Given the description of an element on the screen output the (x, y) to click on. 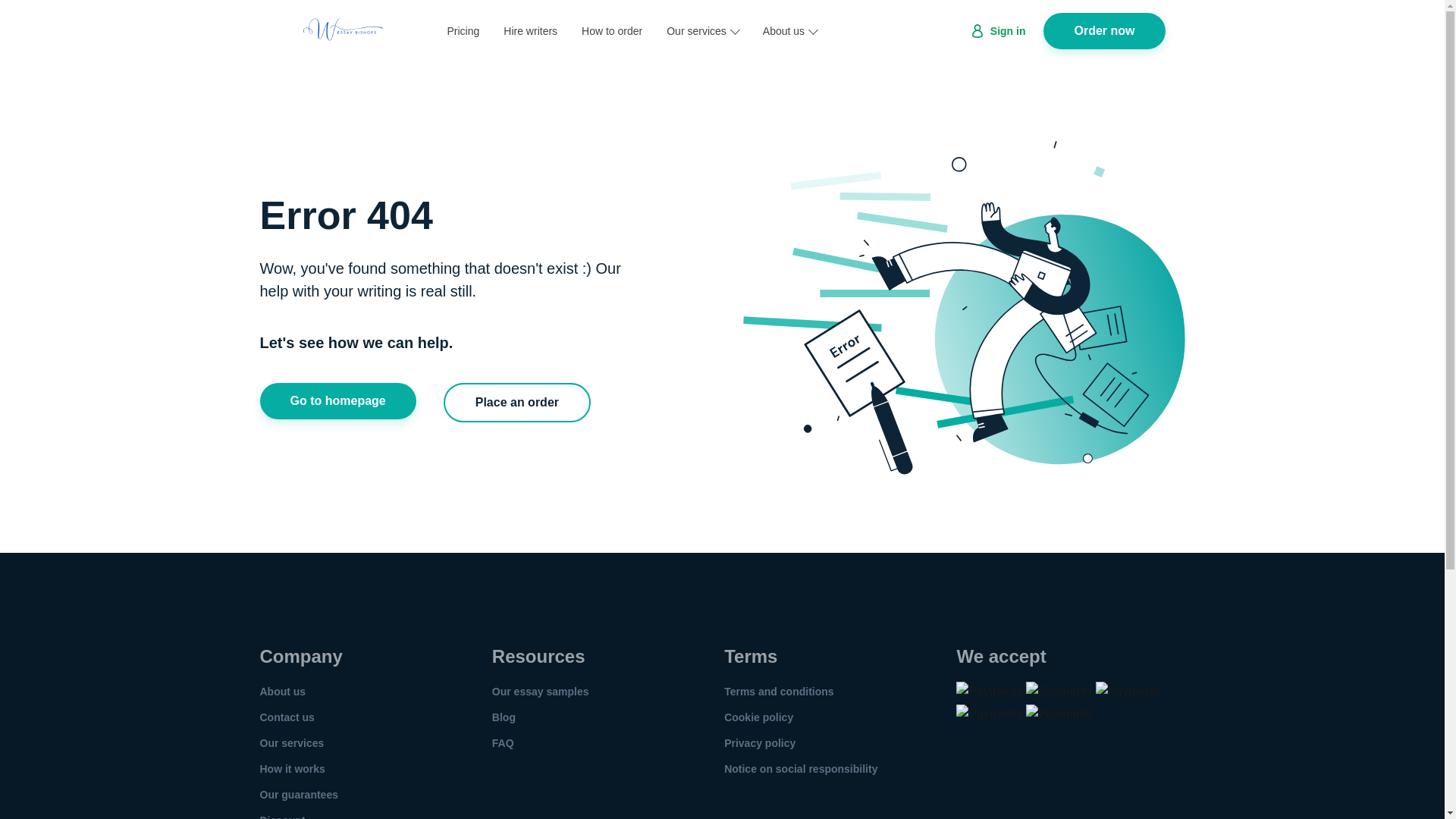
Go to homepage (336, 401)
Contact us (286, 717)
Our services (702, 30)
Privacy policy (758, 743)
Terms and conditions (777, 691)
Cookie policy (758, 717)
FAQ (502, 743)
How it works (291, 768)
About us (282, 691)
Our guarantees (298, 794)
